Given the description of an element on the screen output the (x, y) to click on. 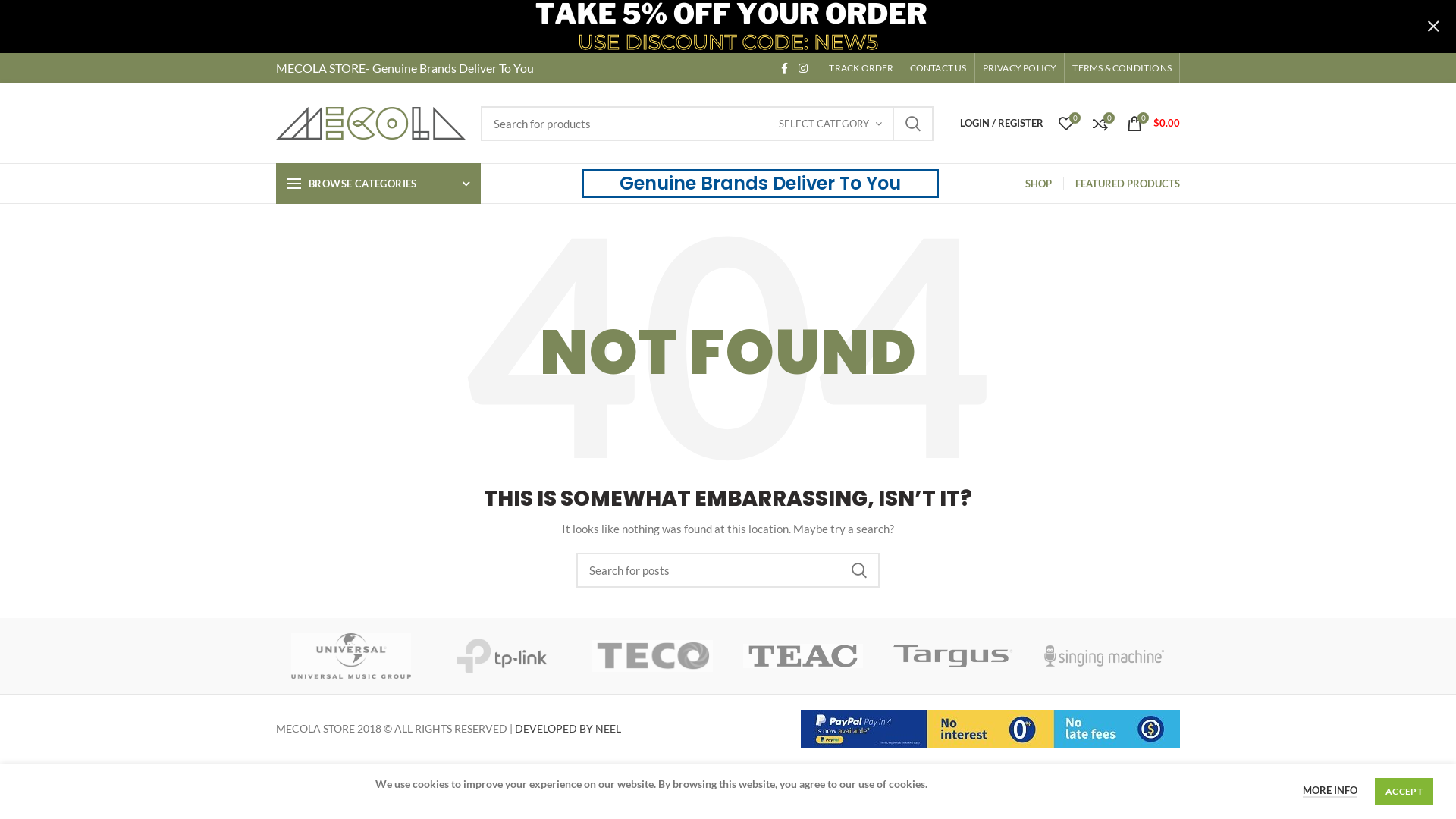
TERMS & CONDITIONS Element type: text (1121, 68)
PRIVACY POLICY Element type: text (1019, 68)
Teac Element type: hover (803, 655)
Targus Element type: hover (953, 655)
0 Element type: text (1100, 122)
SELECT CATEGORY Element type: text (830, 123)
Singing Machine Element type: hover (1104, 655)
0
$0.00 Element type: text (1153, 122)
TRACK ORDER Element type: text (860, 68)
SHOP Element type: text (1038, 183)
MORE INFO Element type: text (1329, 790)
Universal Music Element type: hover (351, 655)
CONTACT US Element type: text (938, 68)
SEARCH Element type: text (912, 123)
TP-Link Element type: hover (501, 655)
FEATURED PRODUCTS Element type: text (1127, 183)
DEVELOPED BY NEEL Element type: text (567, 727)
Teco Element type: hover (652, 655)
SEARCH Element type: text (859, 569)
Facebook Element type: text (784, 68)
Instagram Element type: text (802, 68)
0 Element type: text (1066, 122)
LOGIN / REGISTER Element type: text (1001, 122)
ACCEPT Element type: text (1403, 791)
